Given the description of an element on the screen output the (x, y) to click on. 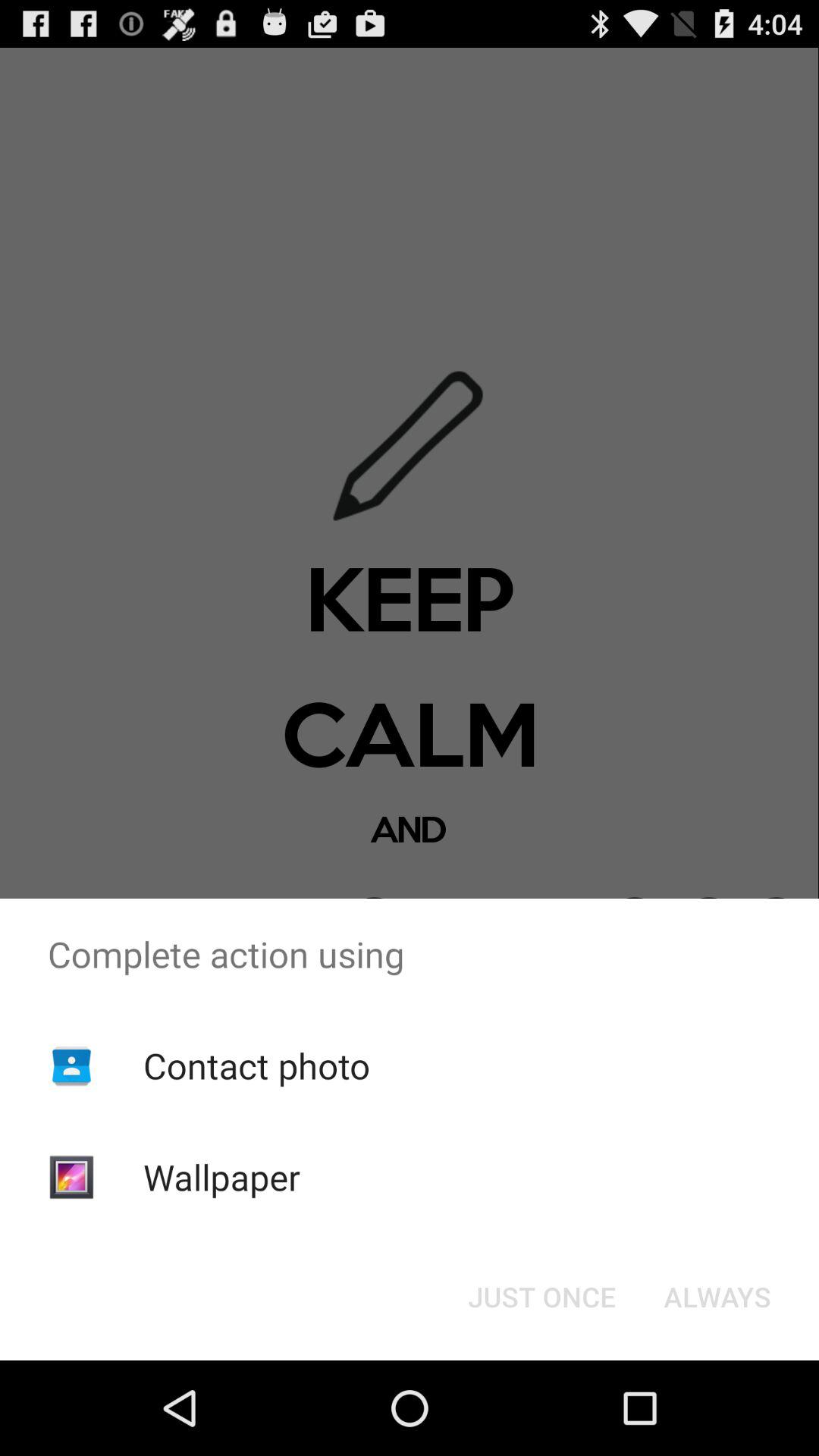
select icon below complete action using icon (541, 1296)
